Given the description of an element on the screen output the (x, y) to click on. 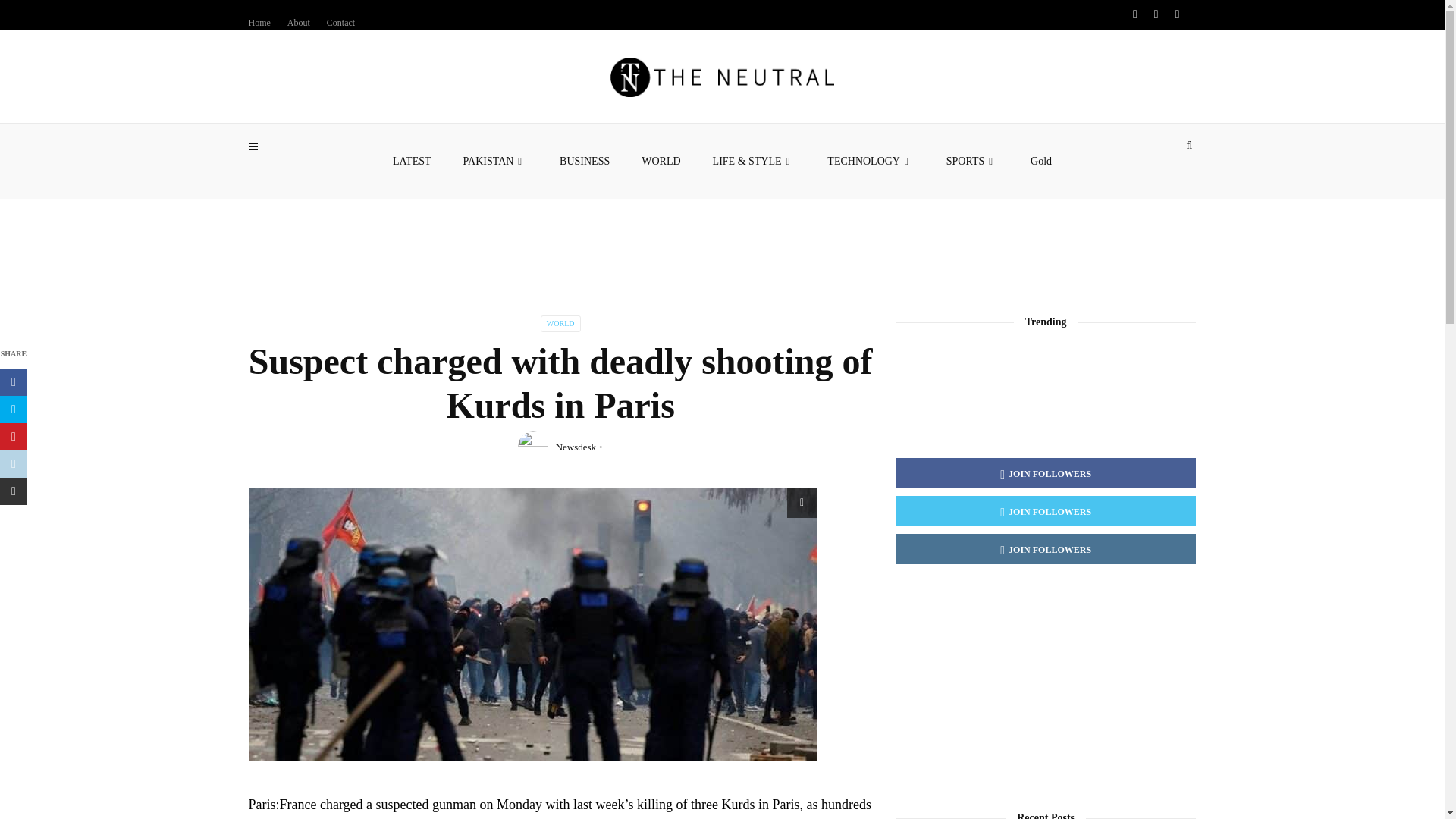
PAKISTAN (495, 160)
LATEST (411, 160)
WORLD (660, 160)
BUSINESS (584, 160)
